Given the description of an element on the screen output the (x, y) to click on. 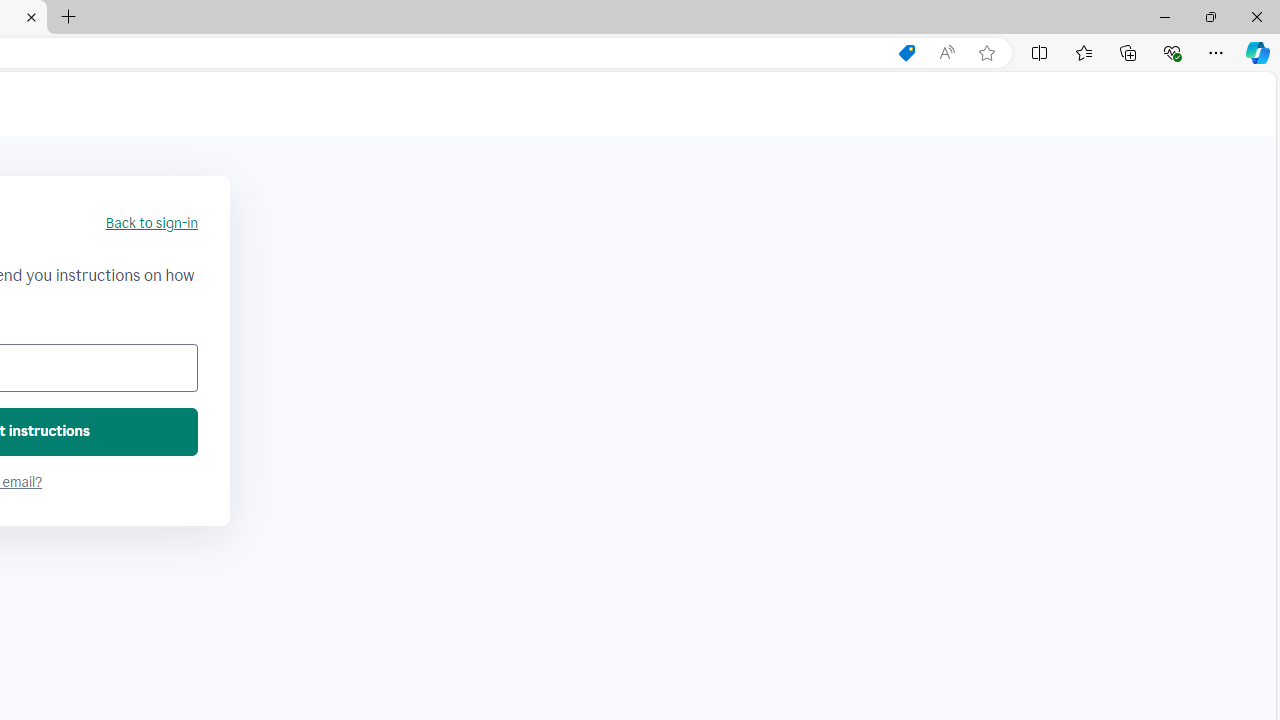
Shopping in Microsoft Edge (906, 53)
Back to sign-in (151, 223)
